Given the description of an element on the screen output the (x, y) to click on. 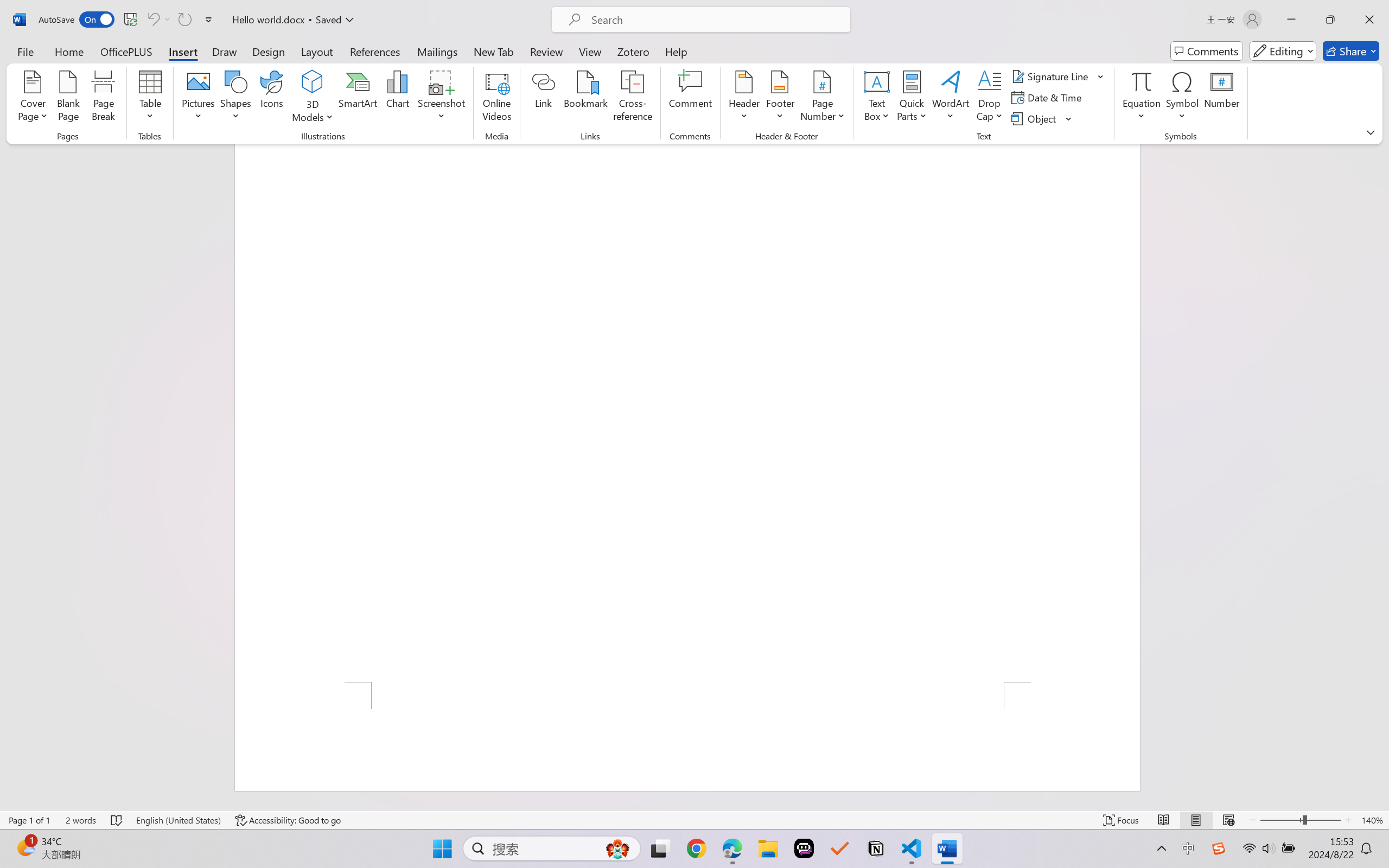
Can't Undo (152, 19)
Focus  (1121, 819)
Can't Repeat (184, 19)
Language English (United States) (178, 819)
Google Chrome (696, 848)
Share (1350, 51)
Mode (1283, 50)
Poe (804, 848)
Quick Access Toolbar (127, 19)
View (589, 51)
